Given the description of an element on the screen output the (x, y) to click on. 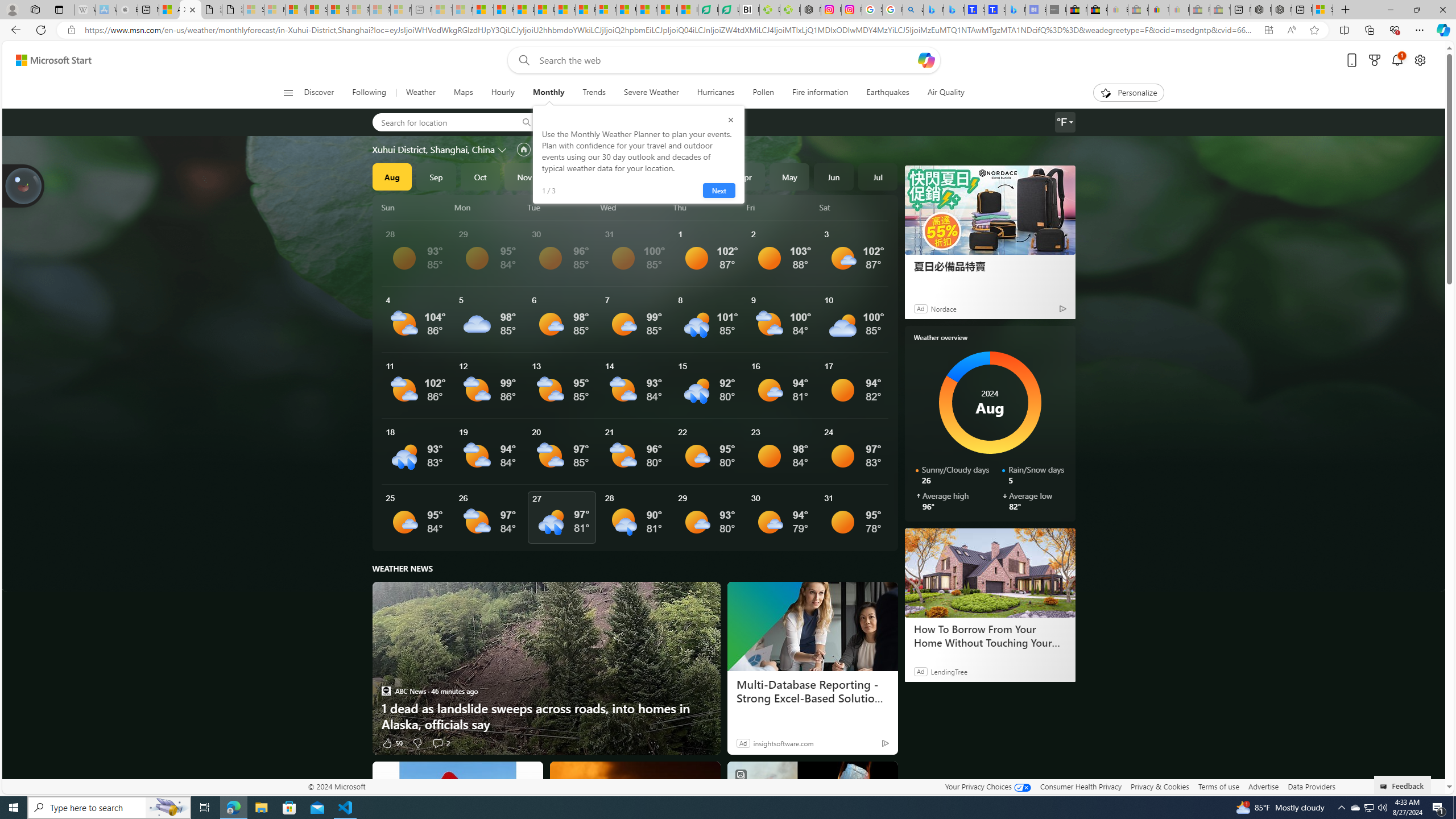
Hurricanes (716, 92)
Enter your search term (726, 59)
Hurricanes (715, 92)
Next (718, 190)
Your Privacy Choices (987, 786)
Sat (853, 207)
Trends (593, 92)
